Given the description of an element on the screen output the (x, y) to click on. 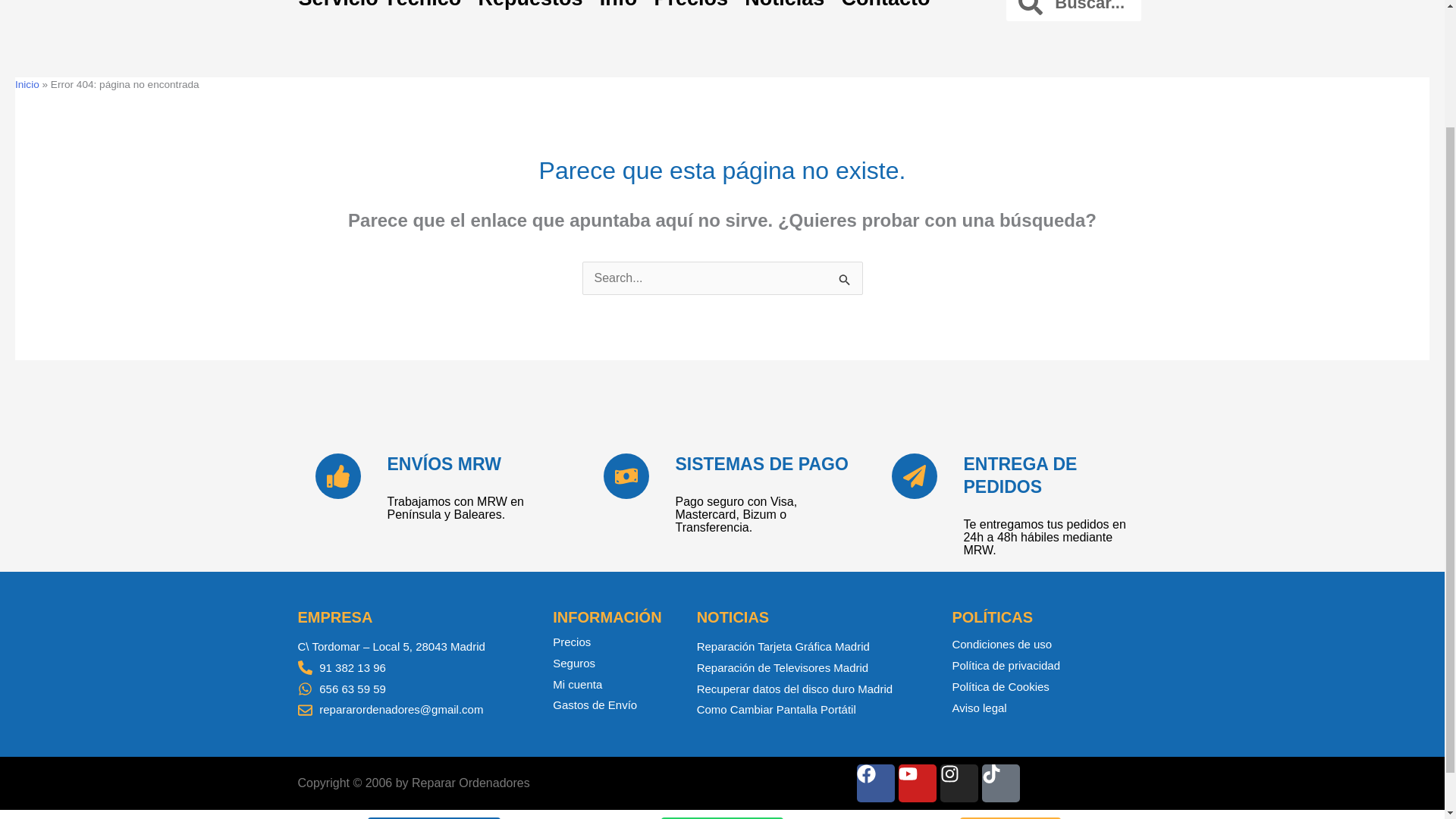
Noticias (784, 6)
Precios (690, 6)
Info (618, 6)
Contacto (884, 6)
Repuestos (529, 6)
